Given the description of an element on the screen output the (x, y) to click on. 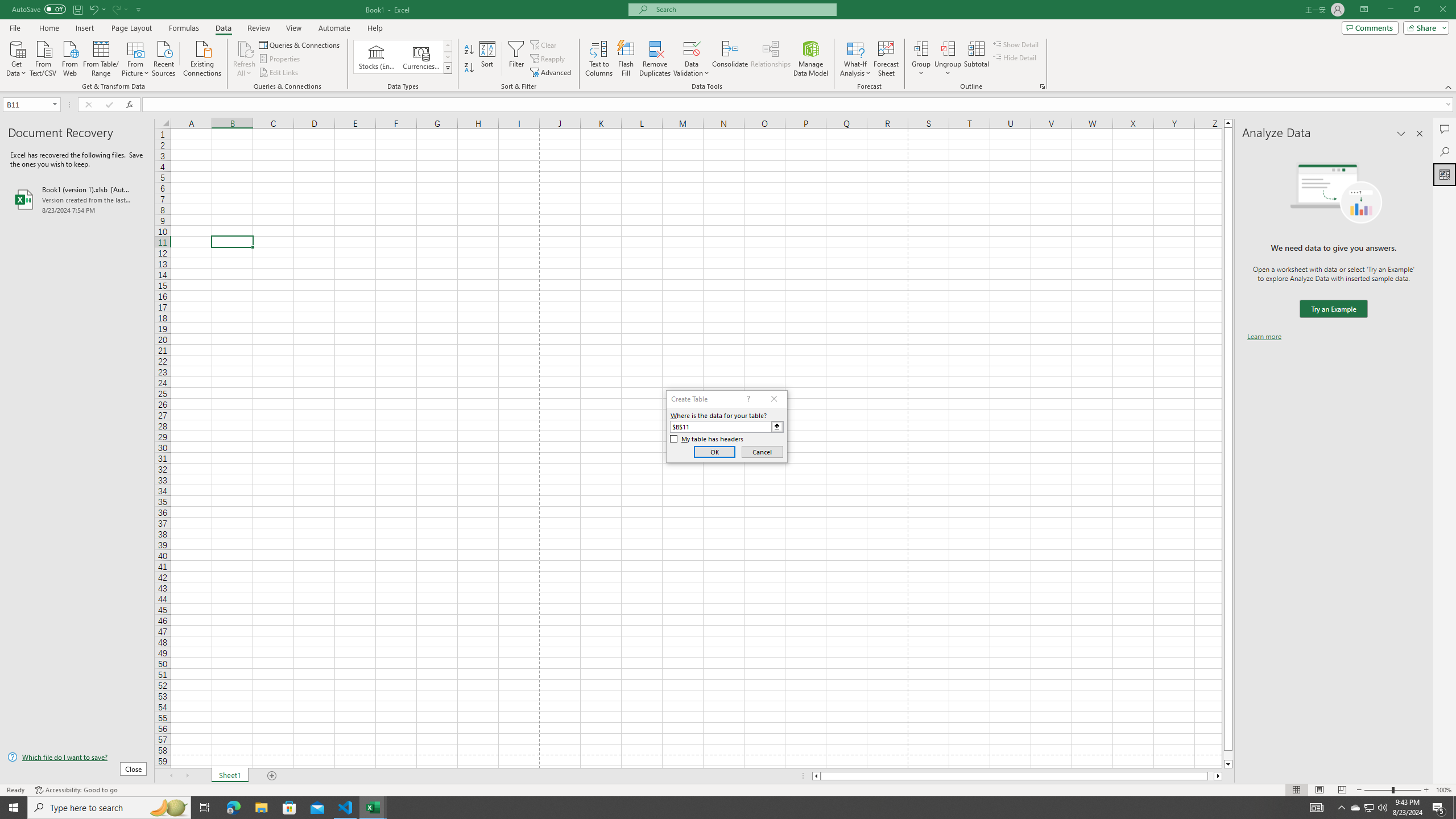
Row up (448, 45)
